Given the description of an element on the screen output the (x, y) to click on. 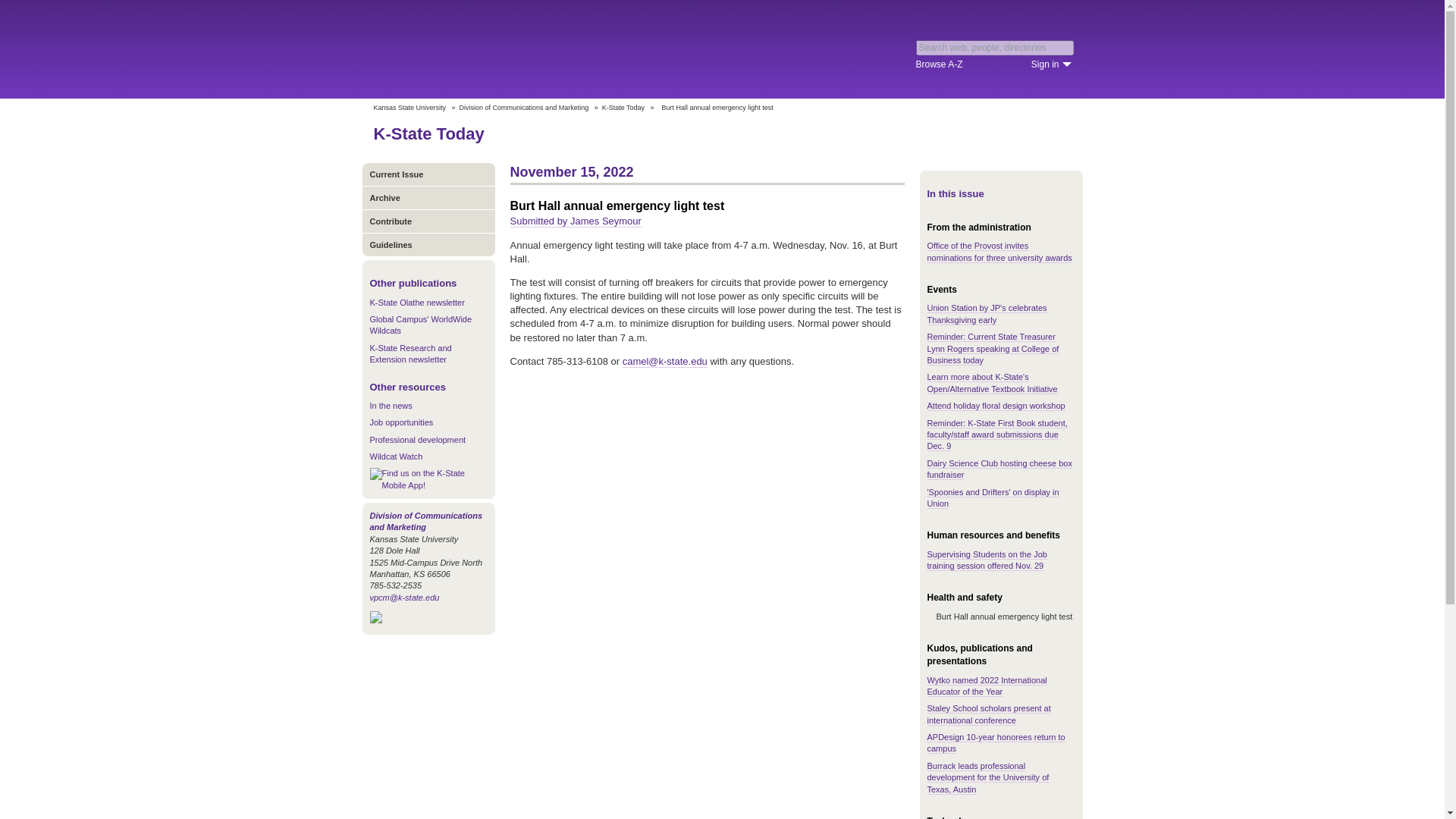
Guidelines (428, 244)
Contribute (428, 220)
Current Issue (428, 173)
Archive (428, 197)
K-State Research and Extension newsletter (410, 353)
Attend holiday floral design workshop (995, 406)
